Given the description of an element on the screen output the (x, y) to click on. 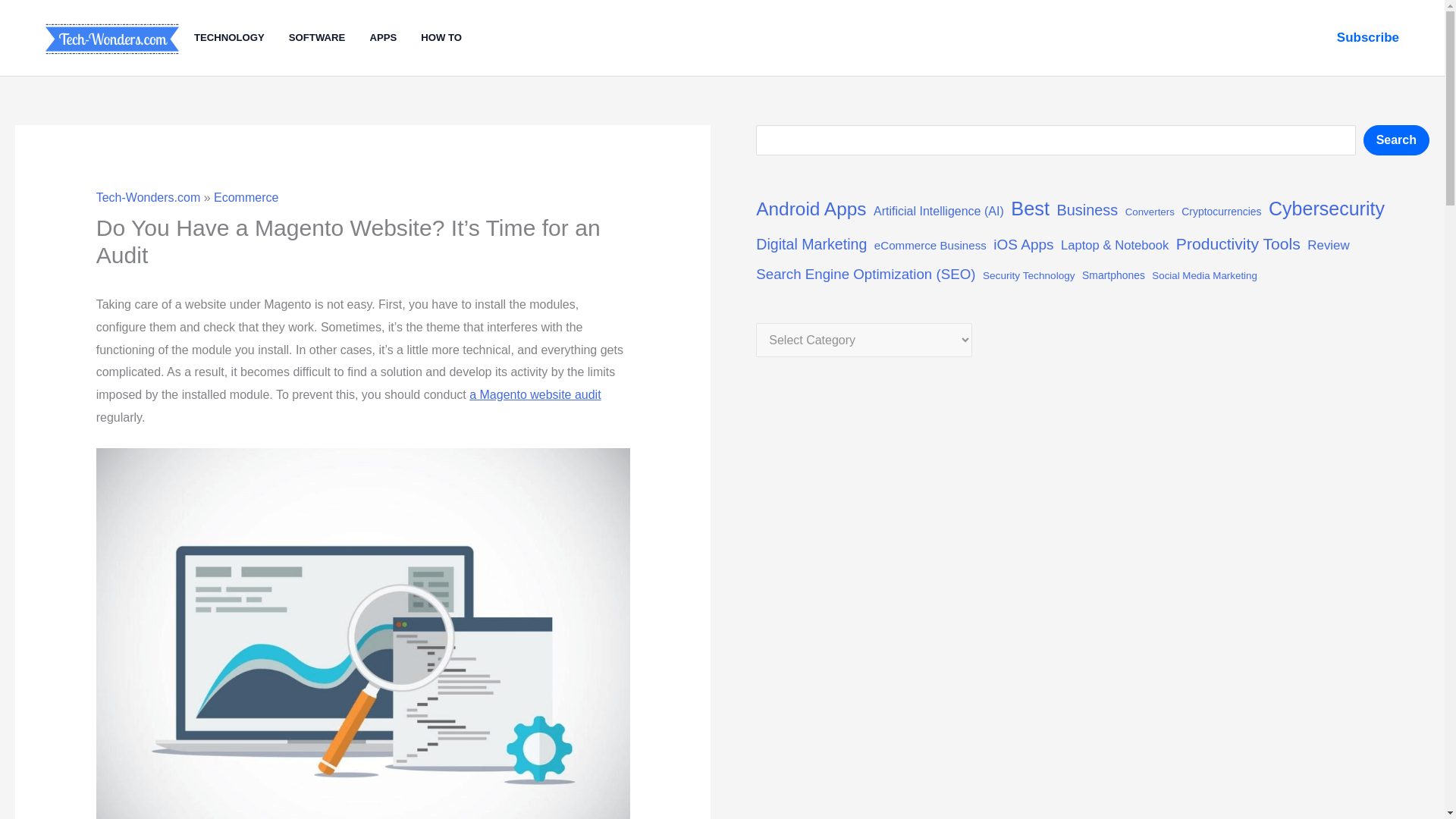
Best (1029, 208)
Tech-Wonders.com (148, 196)
TECHNOLOGY (240, 38)
Android Apps (810, 209)
Subscribe (1367, 37)
Search (1395, 140)
eCommerce Business (931, 245)
a Magento website audit (533, 394)
Digital Marketing (810, 244)
iOS Apps (1022, 244)
Business (1087, 210)
Cryptocurrencies (1220, 211)
SOFTWARE (328, 38)
Cybersecurity (1326, 208)
Converters (1149, 212)
